Given the description of an element on the screen output the (x, y) to click on. 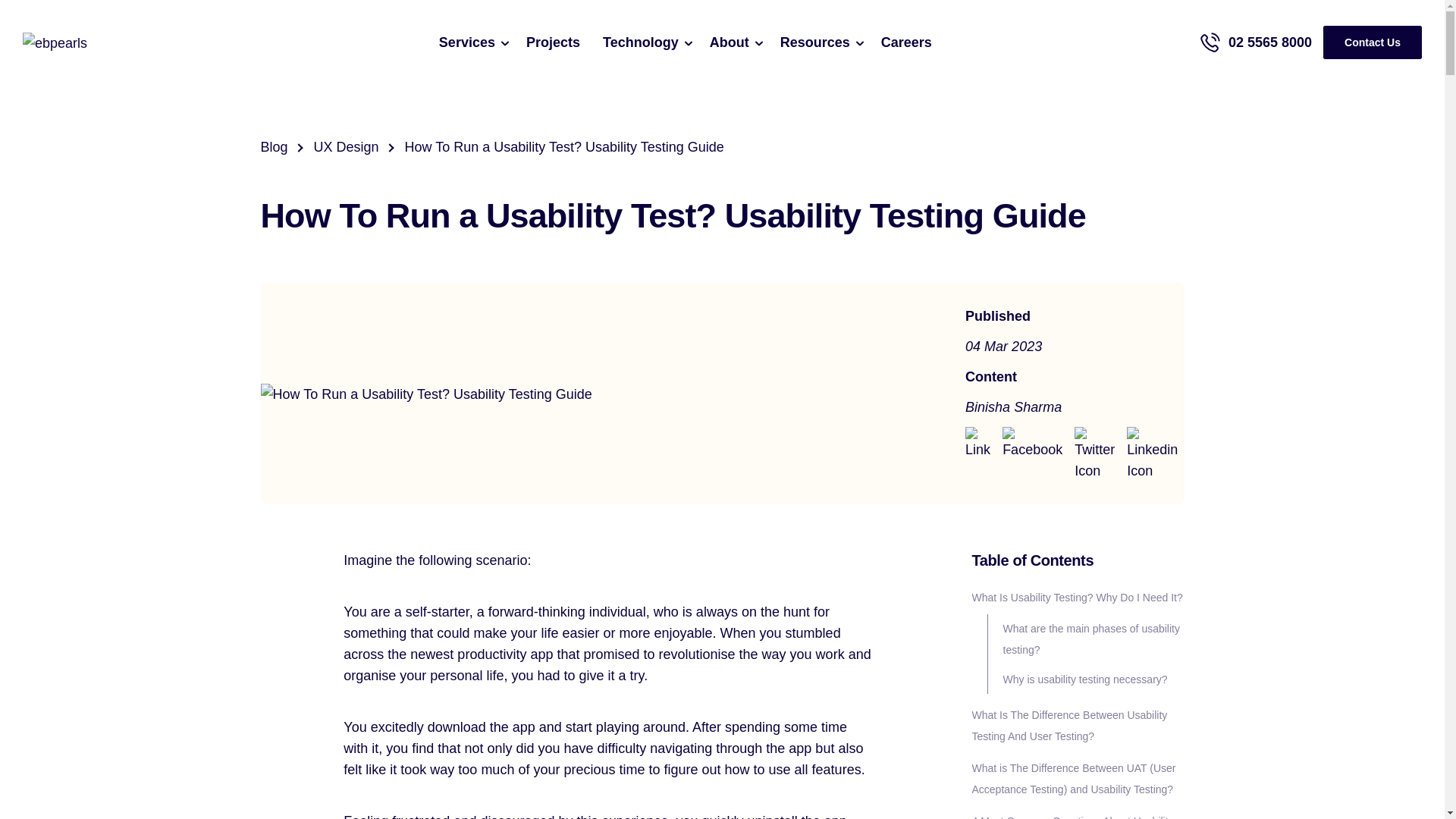
Projects (553, 41)
Resources (823, 41)
About (737, 41)
